Given the description of an element on the screen output the (x, y) to click on. 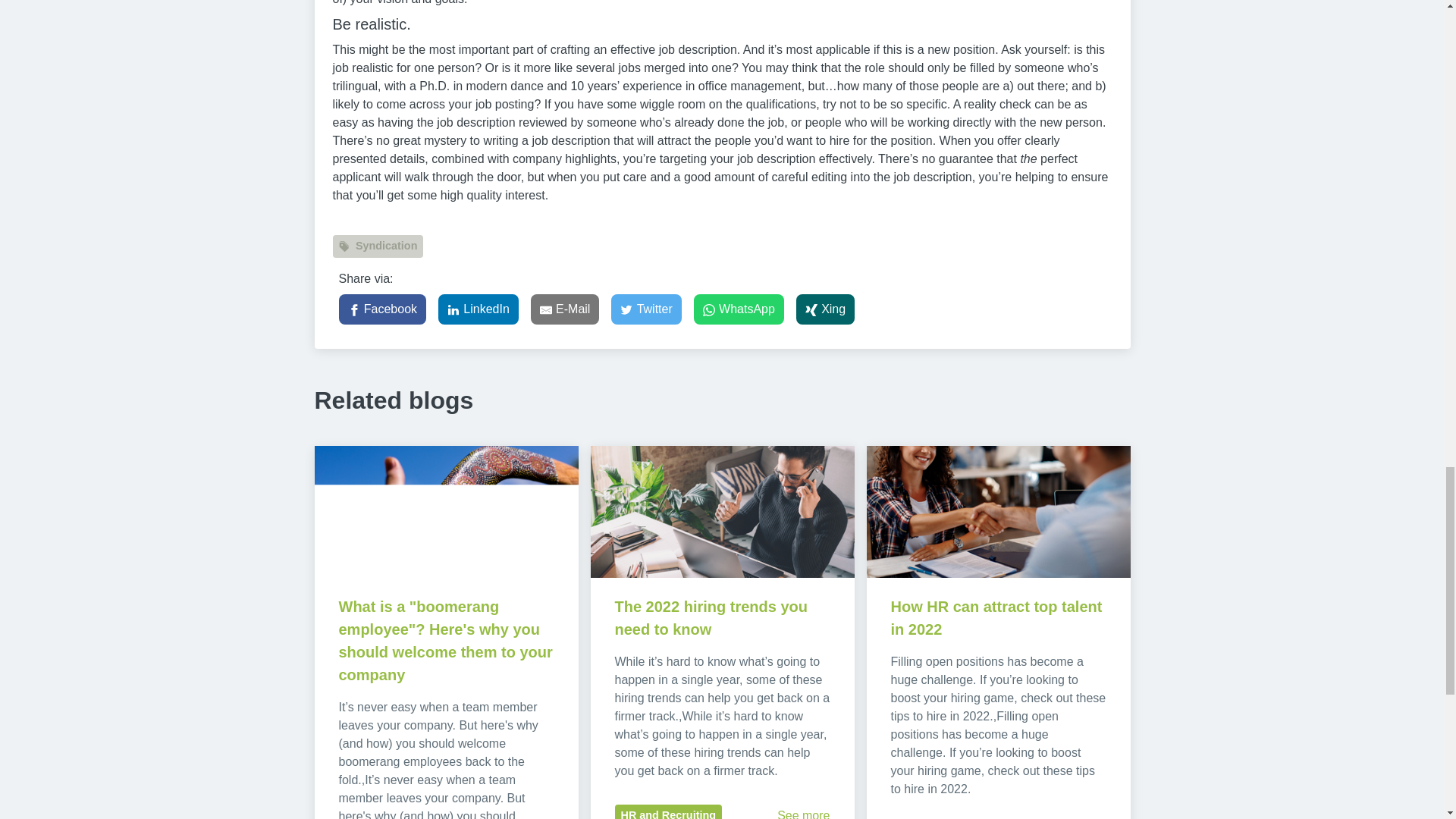
LinkedIn (478, 309)
Syndication (377, 246)
Twitter (646, 309)
The 2022 hiring trends you need to know (712, 618)
See more (803, 814)
WhatsApp (739, 309)
Facebook (381, 309)
Xing (825, 309)
E-Mail (565, 309)
How HR can attract top talent in 2022 (997, 618)
